Given the description of an element on the screen output the (x, y) to click on. 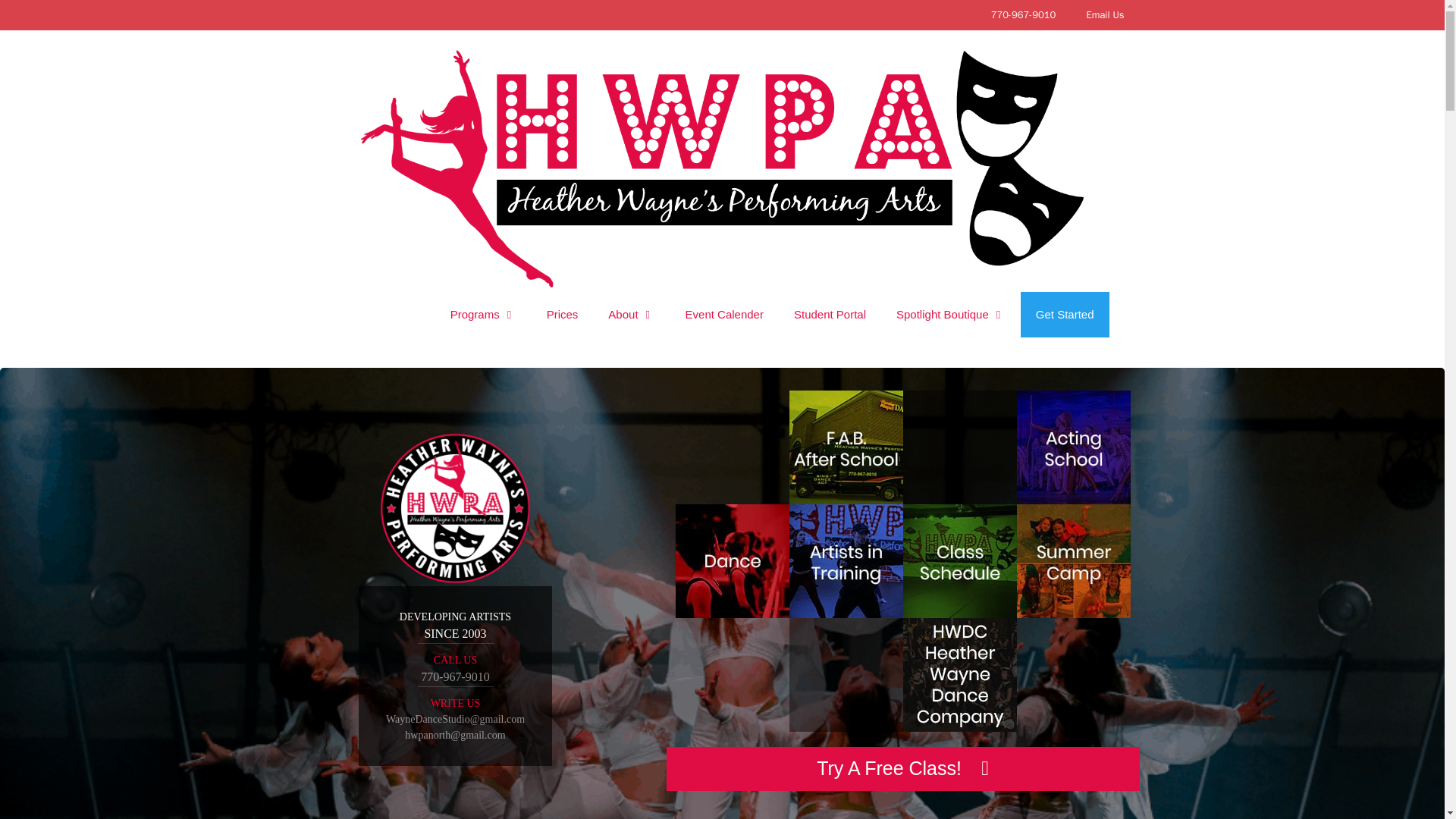
770-967-9010 (1023, 15)
Spotlight Boutique (950, 314)
Email Us (1104, 15)
About (630, 314)
Get Started (1064, 314)
Event Calender (723, 314)
Prices (562, 314)
Student Portal (829, 314)
Programs (483, 314)
